Given the description of an element on the screen output the (x, y) to click on. 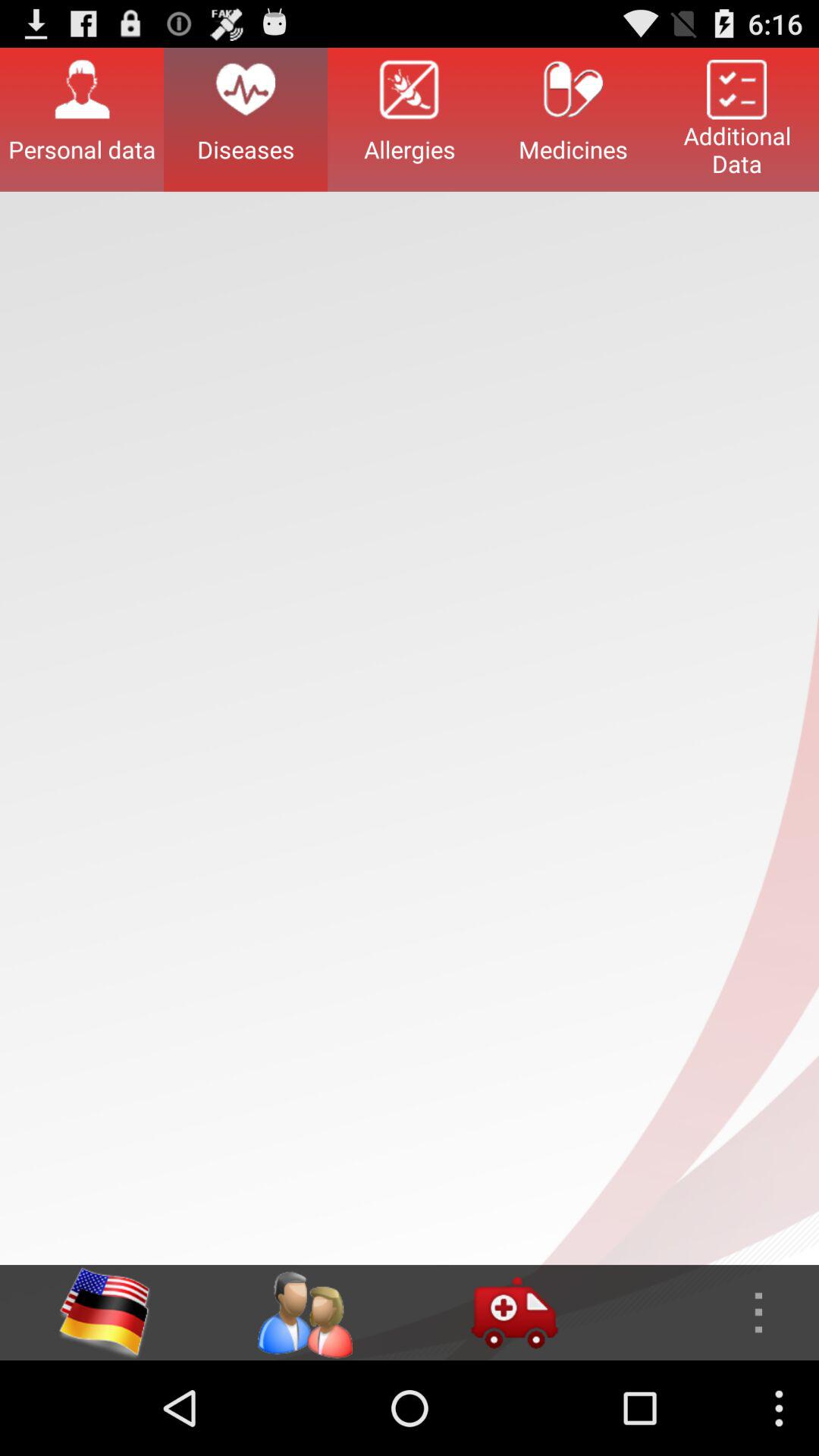
tap item below the allergies icon (514, 1312)
